Given the description of an element on the screen output the (x, y) to click on. 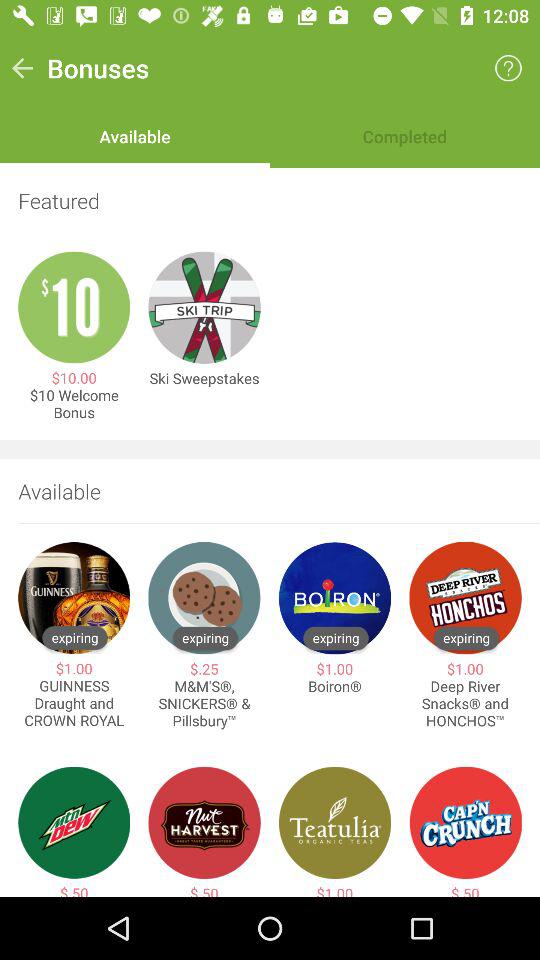
turn on the icon to the right of the bonuses icon (508, 67)
